Given the description of an element on the screen output the (x, y) to click on. 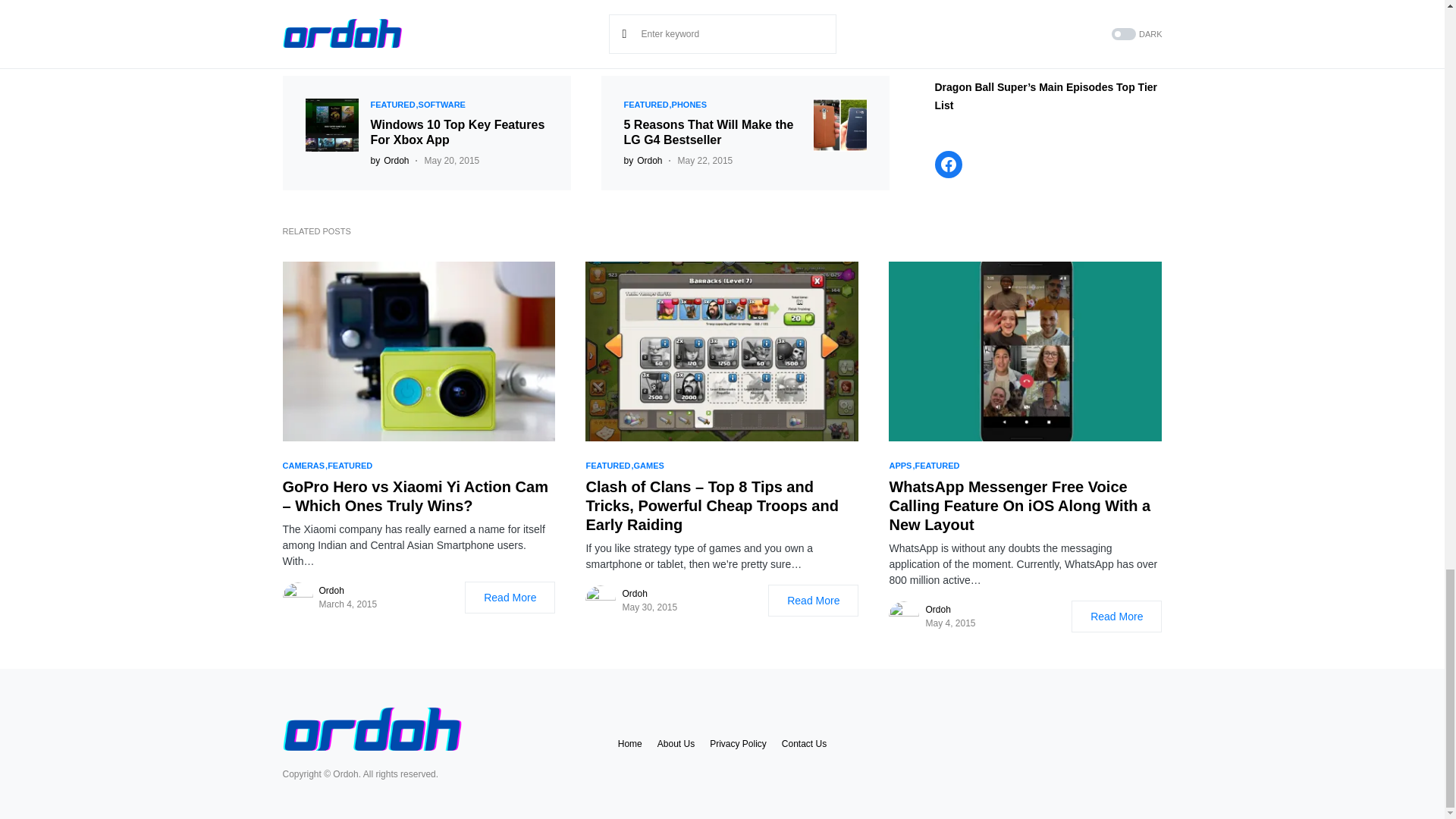
View all posts by Ordoh (389, 160)
View all posts by Ordoh (642, 160)
